Given the description of an element on the screen output the (x, y) to click on. 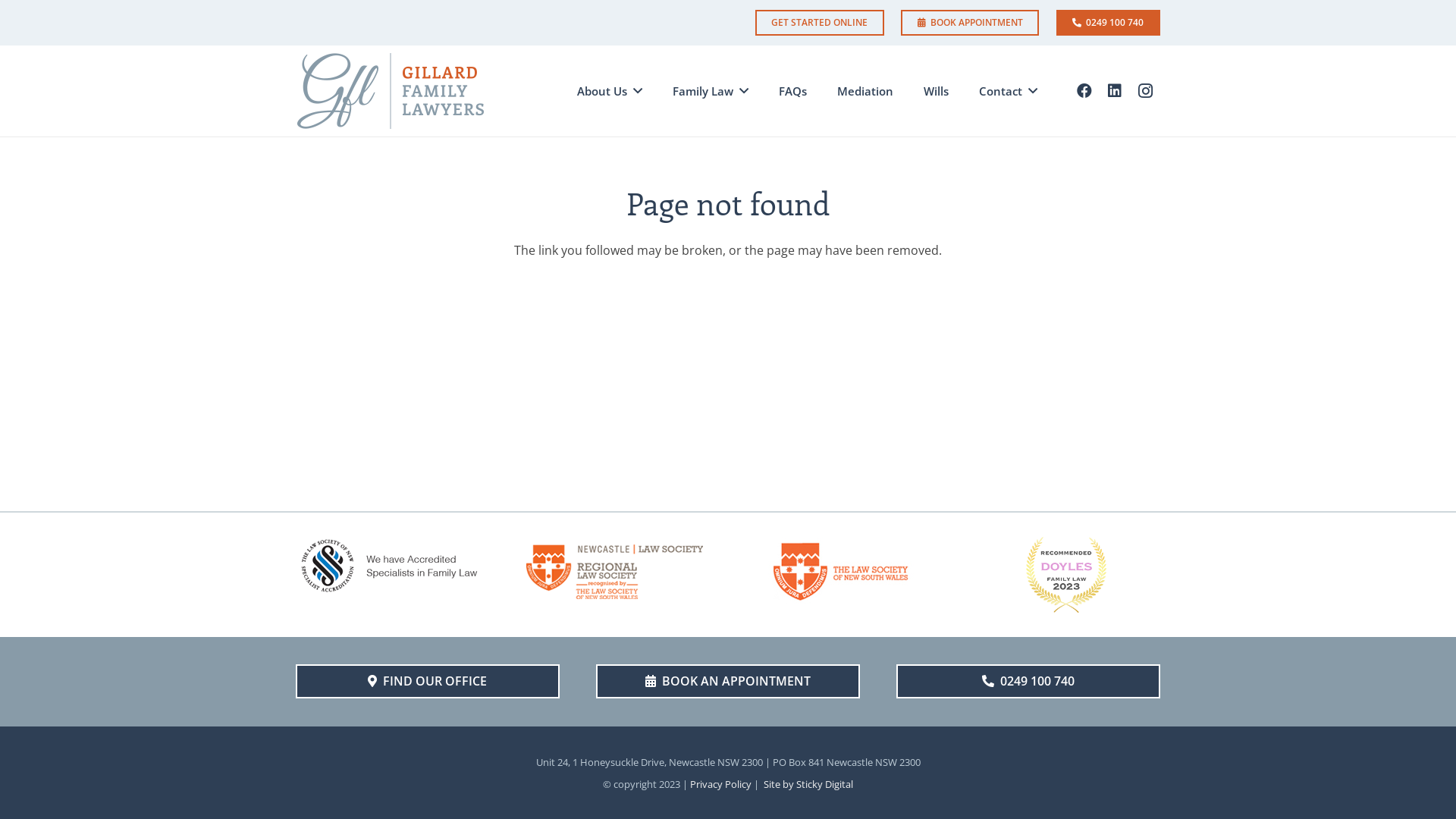
About Us Element type: text (609, 90)
FAQs Element type: text (792, 90)
Wills Element type: text (935, 90)
0249 100 740 Element type: text (1108, 22)
BOOK APPOINTMENT Element type: text (969, 22)
Site by Sticky Digital Element type: text (808, 783)
Family Law Element type: text (710, 90)
Privacy Policy Element type: text (720, 783)
GET STARTED ONLINE Element type: text (819, 22)
LinkedIn Element type: hover (1114, 90)
Facebook Element type: hover (1084, 90)
FIND OUR OFFICE Element type: text (427, 681)
Mediation Element type: text (865, 90)
BOOK AN APPOINTMENT Element type: text (727, 681)
0249 100 740 Element type: text (1028, 681)
Instagram Element type: hover (1144, 90)
Contact Element type: text (1007, 90)
